Given the description of an element on the screen output the (x, y) to click on. 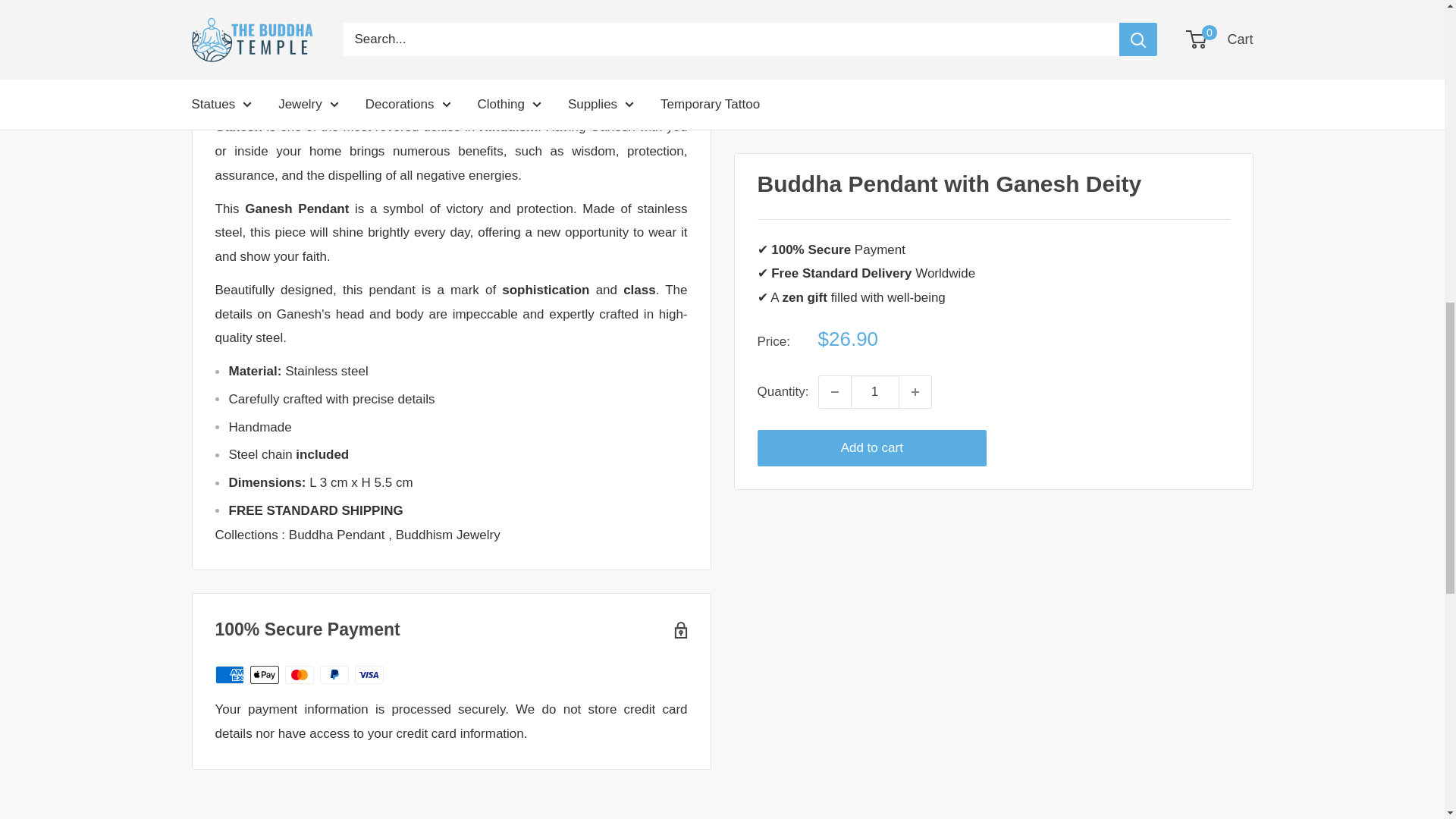
Buddha Pendant (338, 534)
Buddhism Jewelry (448, 534)
